Given the description of an element on the screen output the (x, y) to click on. 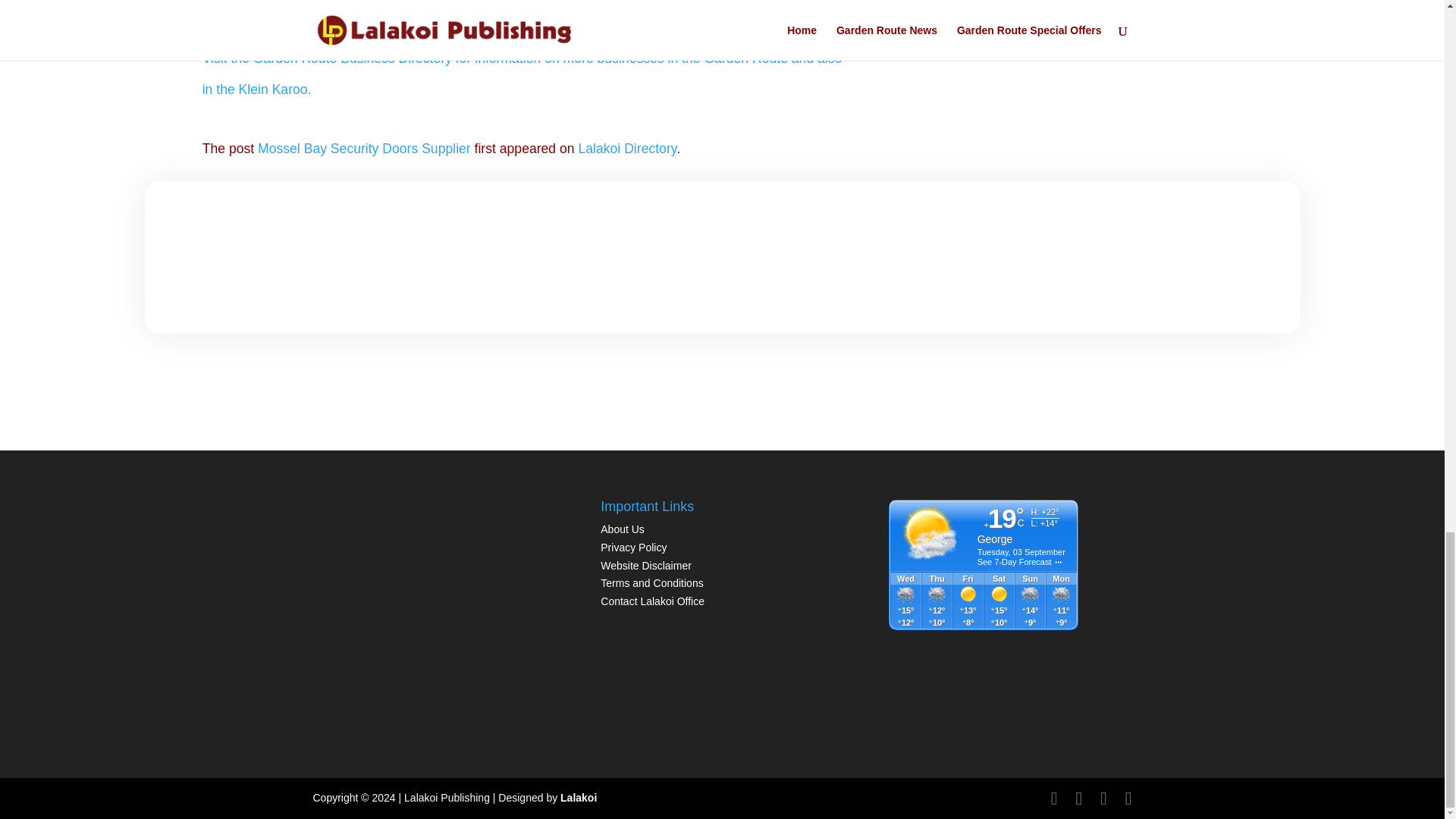
Privacy Policy  (634, 547)
Terms and Conditions (651, 582)
Lalakoi Directory (627, 148)
Lalakoi (578, 797)
Website Disclaimer (645, 565)
About Us (622, 529)
Mossel Bay Security Doors Supplier (363, 148)
Contact Lalakoi Office (651, 601)
